Given the description of an element on the screen output the (x, y) to click on. 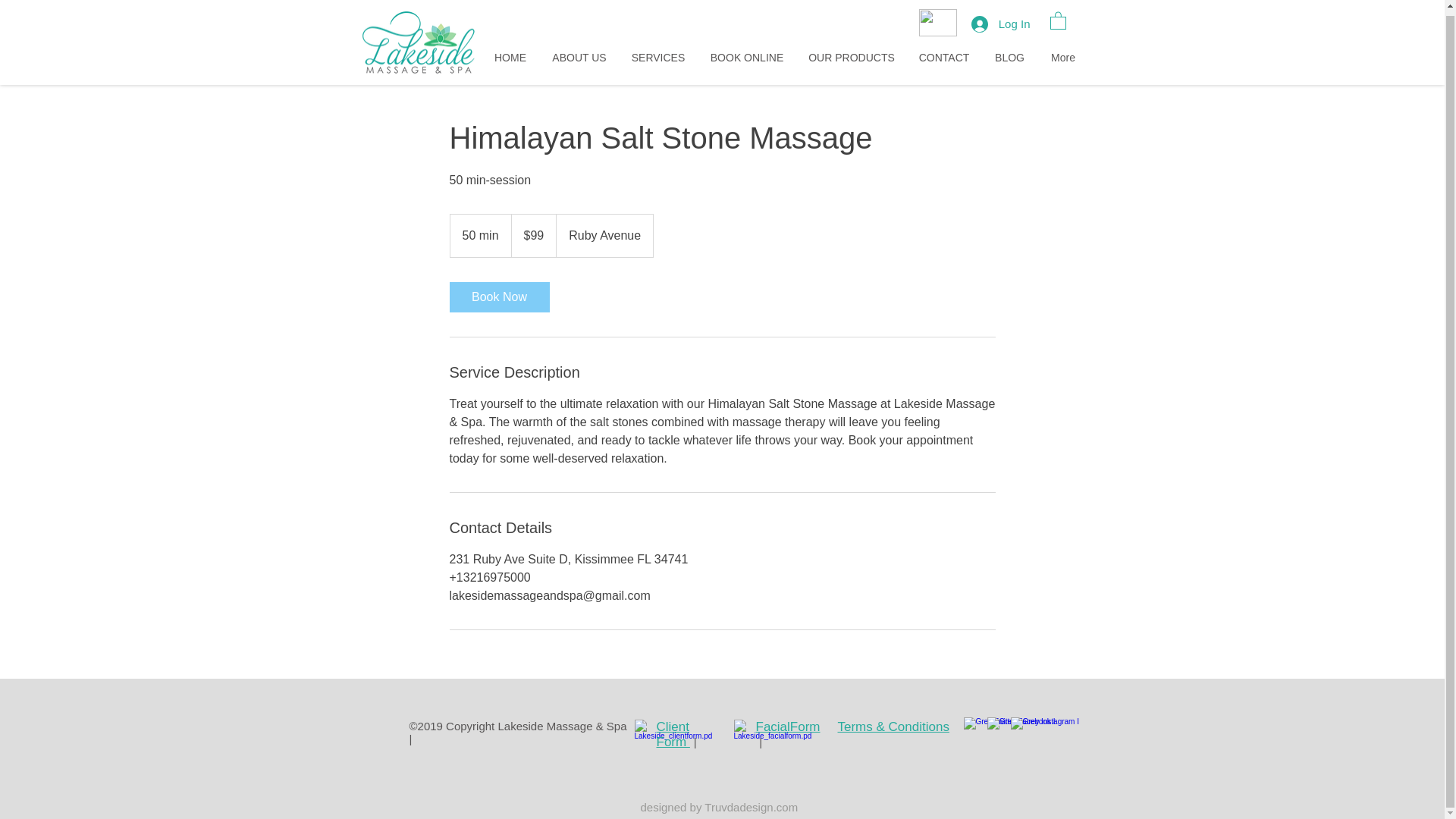
CONTACT (944, 52)
BLOG (1008, 52)
HOME (509, 52)
OUR PRODUCTS (850, 52)
Truvdadesign.com (750, 807)
Book Now (498, 296)
ABOUT US (580, 52)
Log In (1000, 18)
Client Form   (675, 734)
BOOK ONLINE (746, 52)
